Given the description of an element on the screen output the (x, y) to click on. 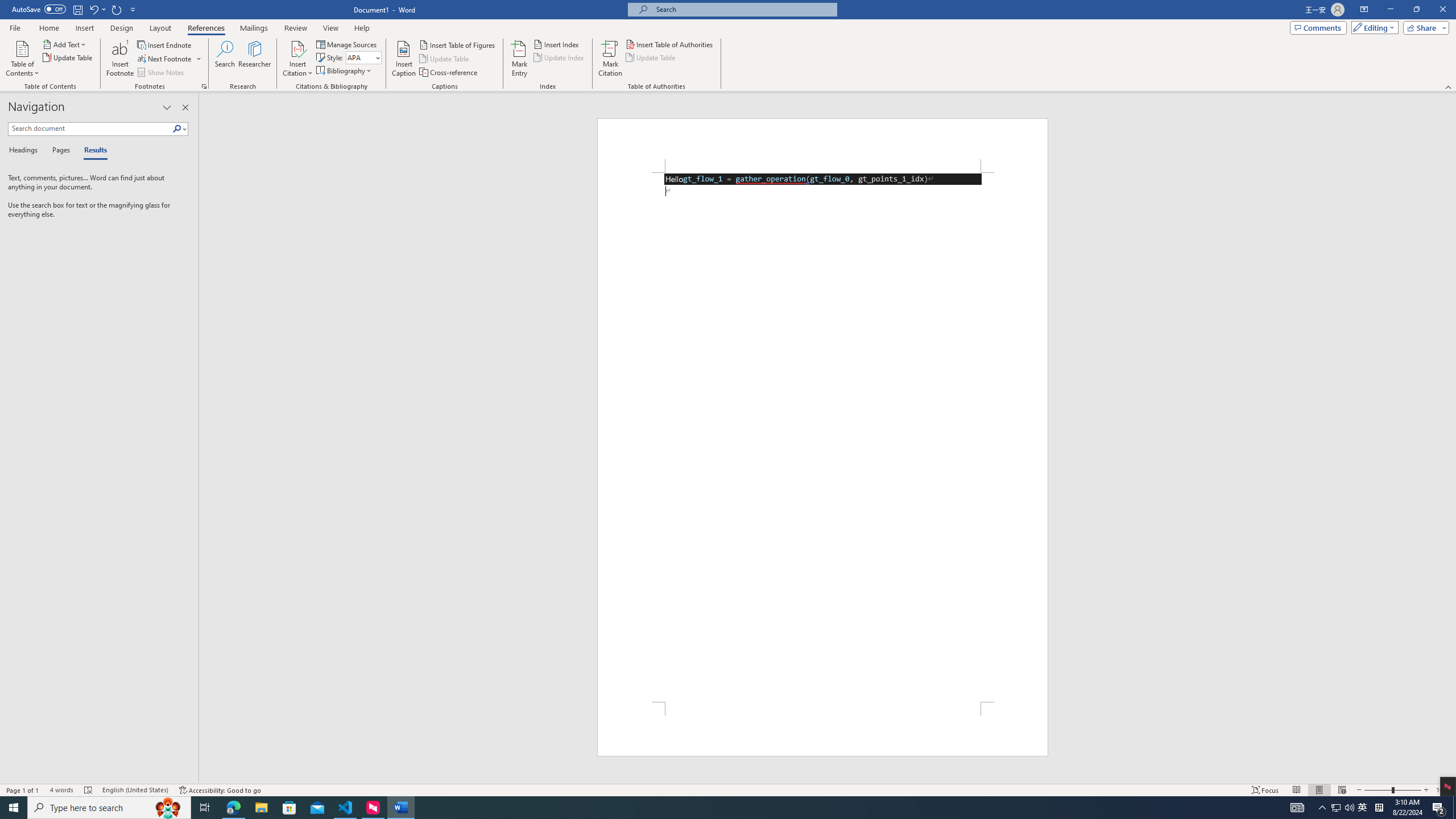
Footnote and Endnote Dialog... (203, 85)
Show Notes (161, 72)
Next Footnote (165, 58)
Language English (United States) (135, 790)
AutoSave (38, 9)
Print Layout (1318, 790)
Layout (160, 28)
Zoom 100% (1443, 790)
Insert Footnote (119, 58)
Insert Table of Figures... (458, 44)
Manage Sources... (347, 44)
Quick Access Toolbar (74, 9)
